Given the description of an element on the screen output the (x, y) to click on. 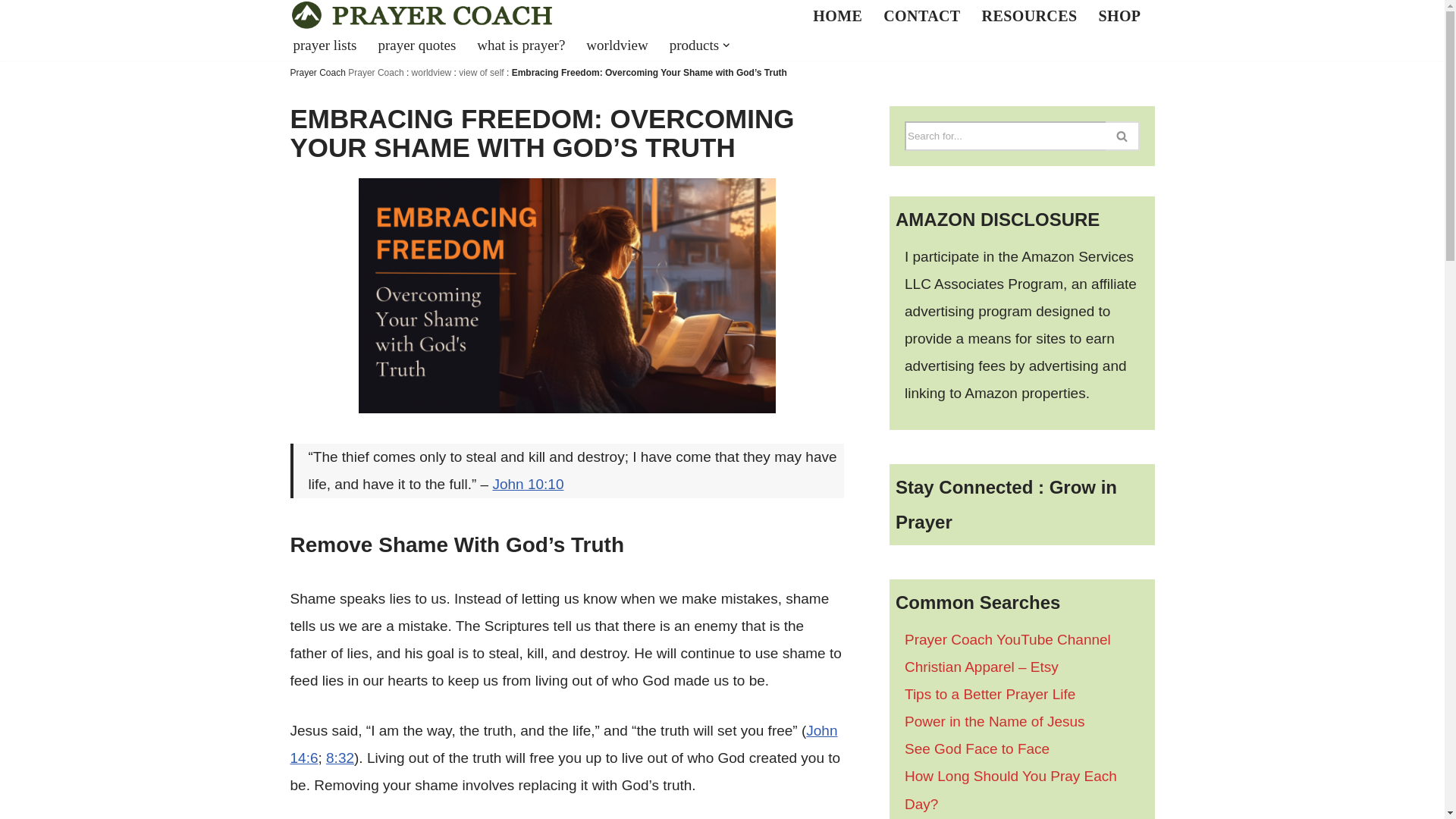
CONTACT (921, 14)
John 14:6 (563, 743)
SHOP (1118, 14)
HOME (836, 14)
view of self (480, 72)
8:32 (339, 757)
Prayer Resources (1029, 14)
worldview (616, 44)
John 8:32 (339, 757)
John 14:6 (563, 743)
prayer quotes (416, 44)
John 10:10 (527, 483)
Kevin Shorter, prayer coach (921, 14)
What is Prayer Coach? (836, 14)
John 10:10 (527, 483)
